Given the description of an element on the screen output the (x, y) to click on. 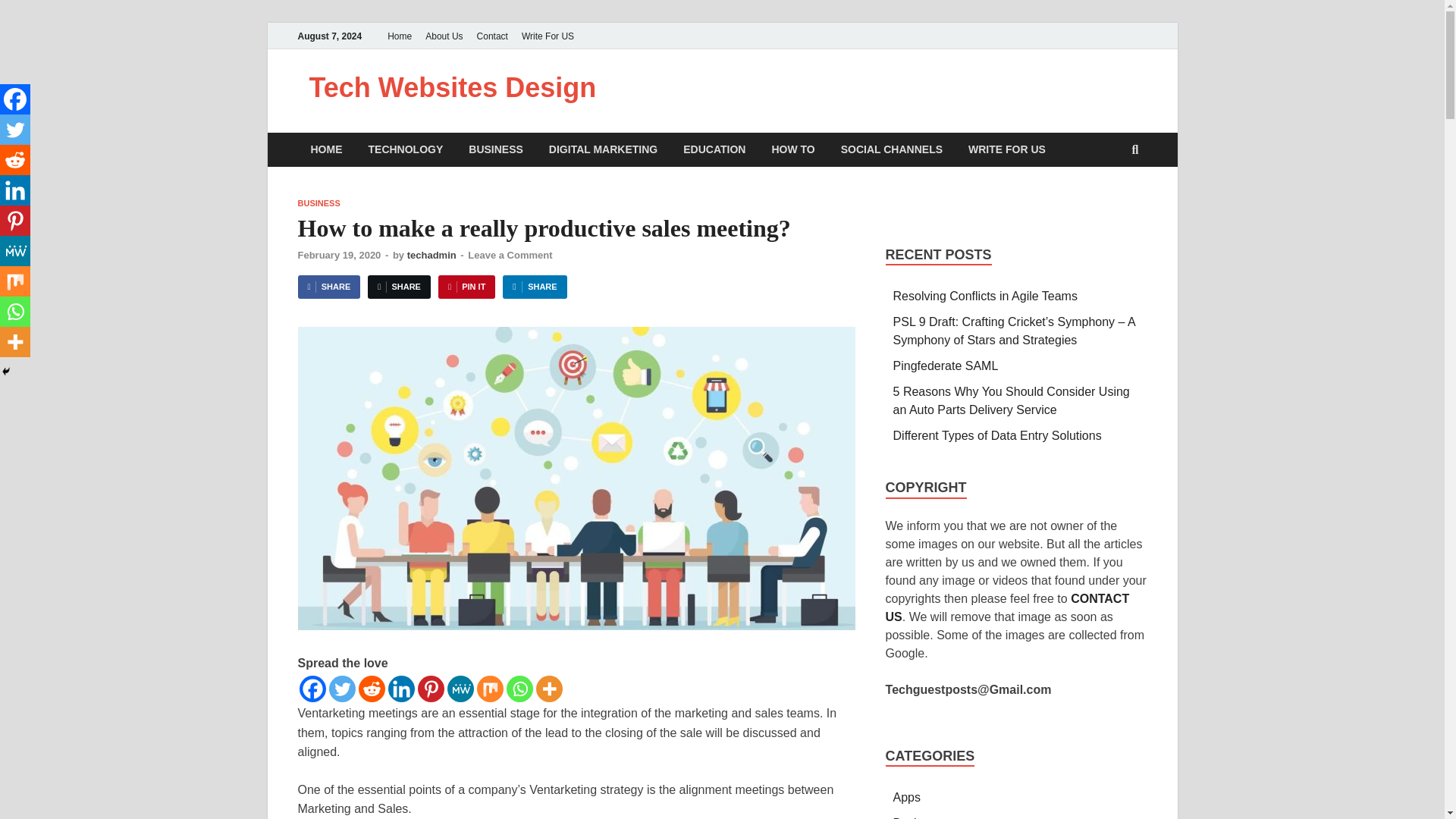
TECHNOLOGY (405, 149)
Leave a Comment (509, 255)
DIGITAL MARKETING (602, 149)
More (548, 688)
SOCIAL CHANNELS (891, 149)
Facebook (311, 688)
SHARE (399, 286)
Pinterest (430, 688)
HOW TO (792, 149)
BUSINESS (495, 149)
